Given the description of an element on the screen output the (x, y) to click on. 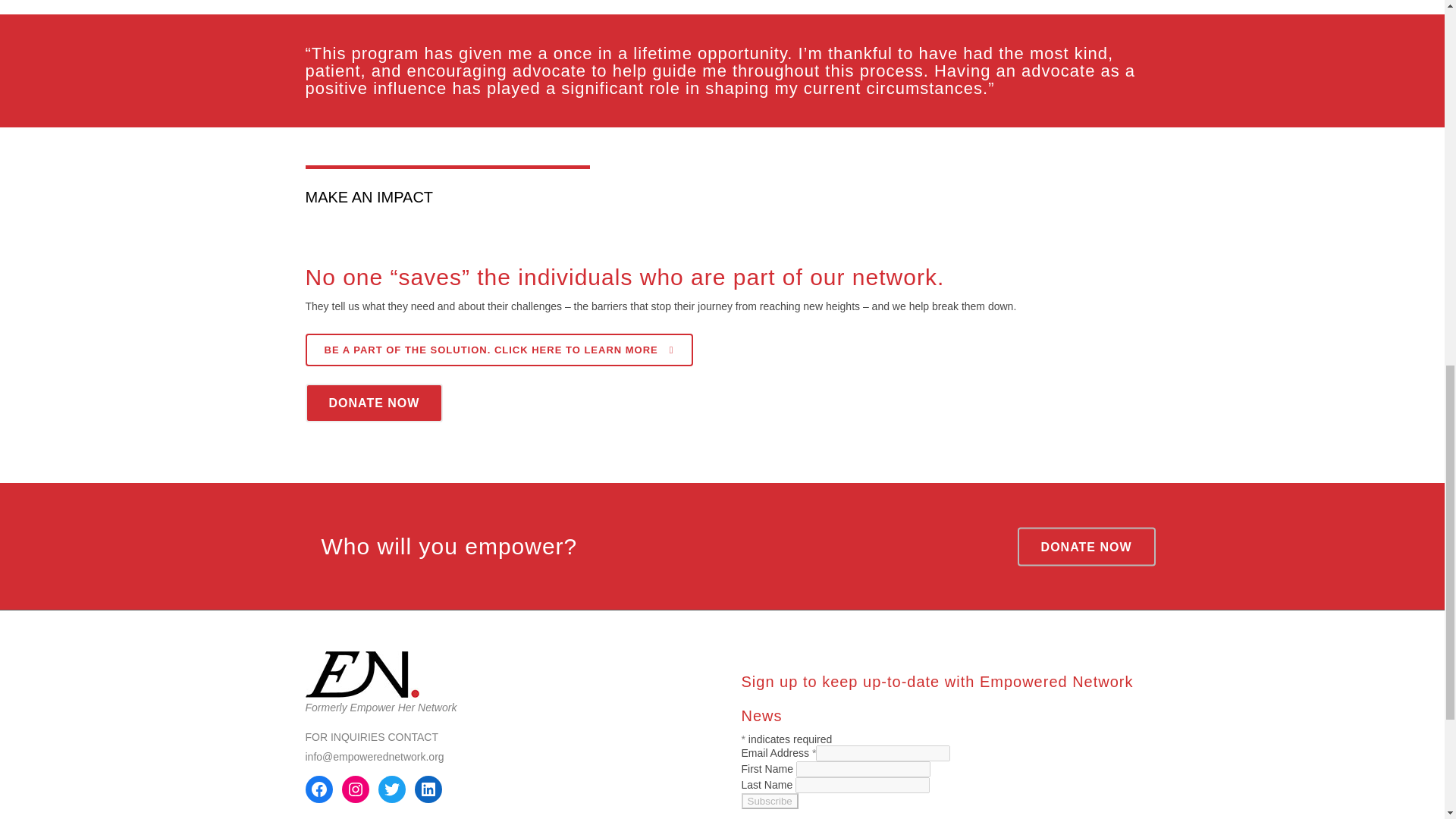
Subscribe (769, 801)
